Given the description of an element on the screen output the (x, y) to click on. 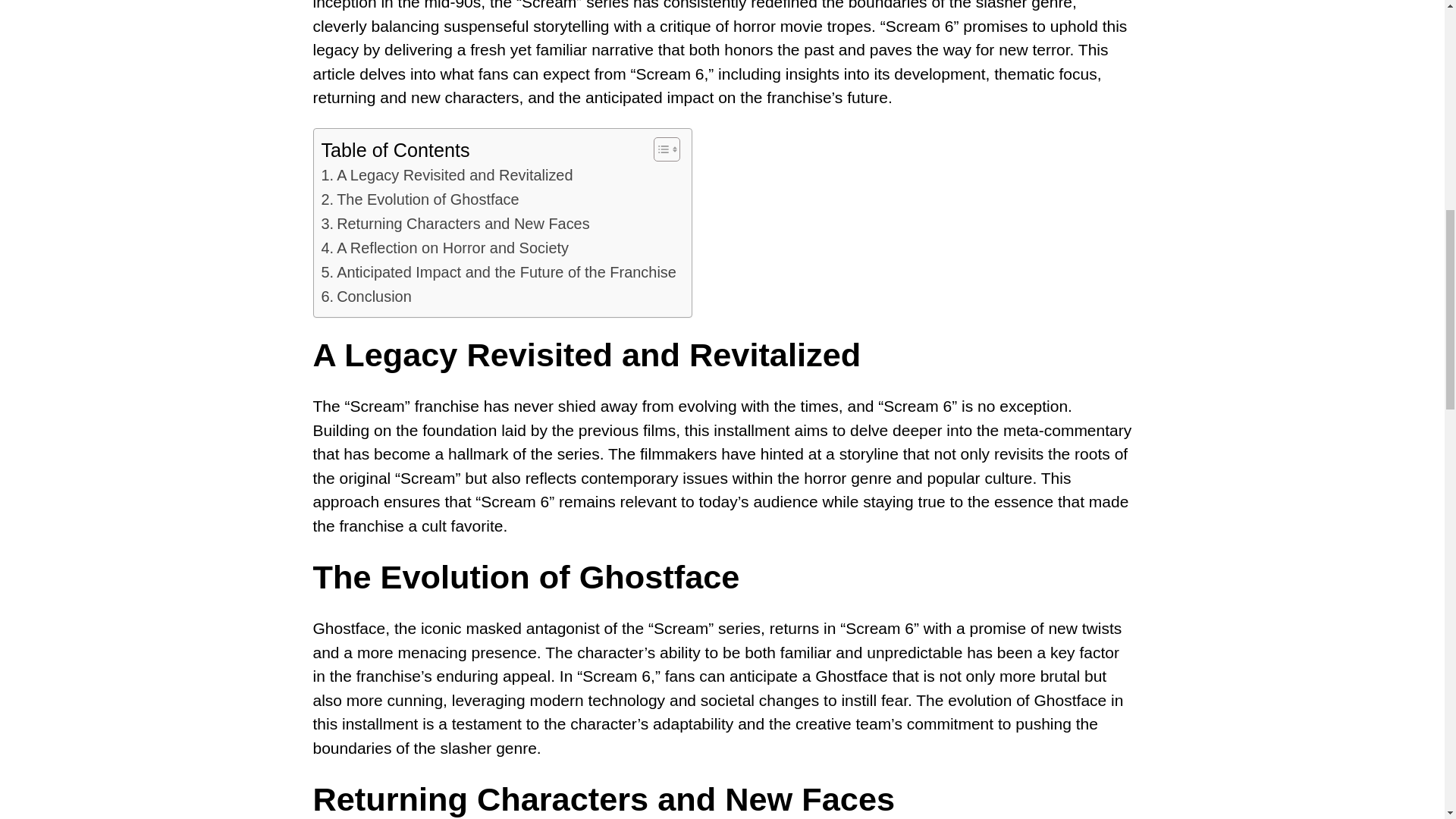
Anticipated Impact and the Future of the Franchise (499, 273)
Anticipated Impact and the Future of the Franchise (499, 273)
A Reflection on Horror and Society (445, 248)
The Evolution of Ghostface (420, 200)
Conclusion (366, 297)
A Legacy Revisited and Revitalized (447, 175)
Returning Characters and New Faces (455, 224)
Conclusion (366, 297)
Returning Characters and New Faces (455, 224)
A Reflection on Horror and Society (445, 248)
The Evolution of Ghostface (420, 200)
A Legacy Revisited and Revitalized (447, 175)
